Given the description of an element on the screen output the (x, y) to click on. 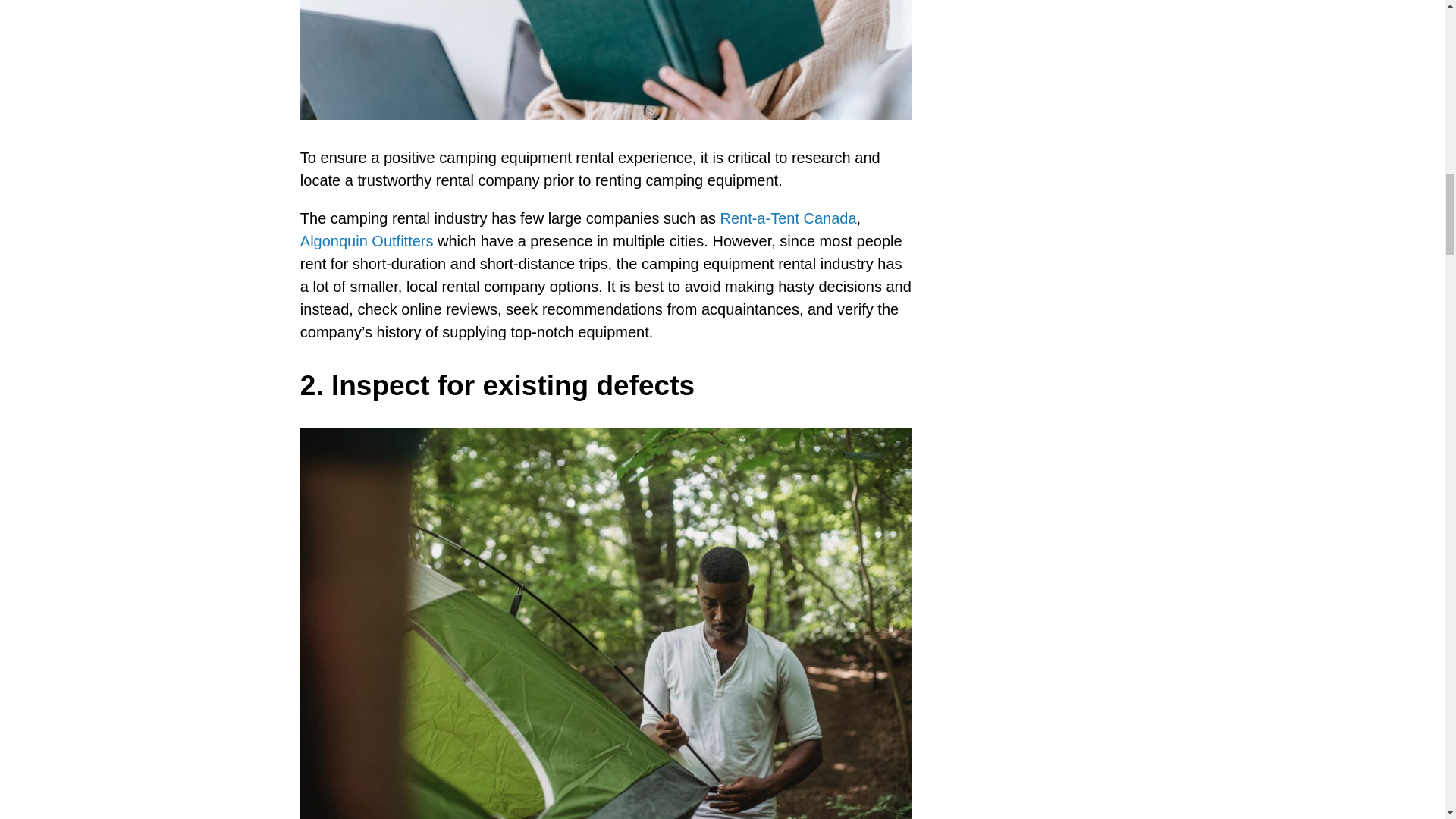
compare-rent-of-camping-equipment (605, 59)
Algonquin Outfitters (366, 240)
Rent-a-Tent Canada (787, 217)
